Given the description of an element on the screen output the (x, y) to click on. 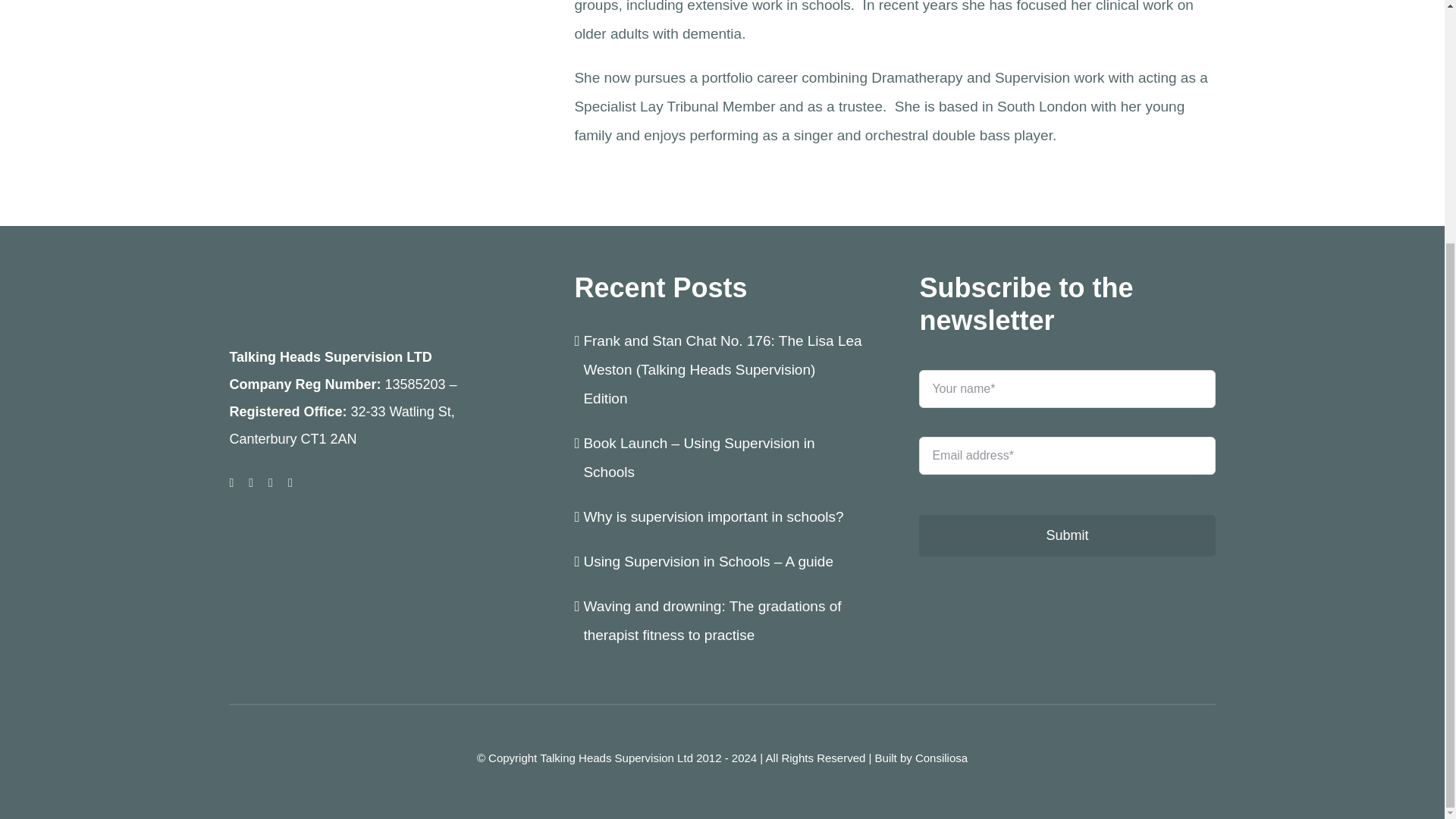
Consiliosa (941, 757)
Submit (1066, 535)
Submit (1066, 477)
Judy-Elias-SQ (376, 63)
Why is supervision important in schools?  (715, 516)
